Given the description of an element on the screen output the (x, y) to click on. 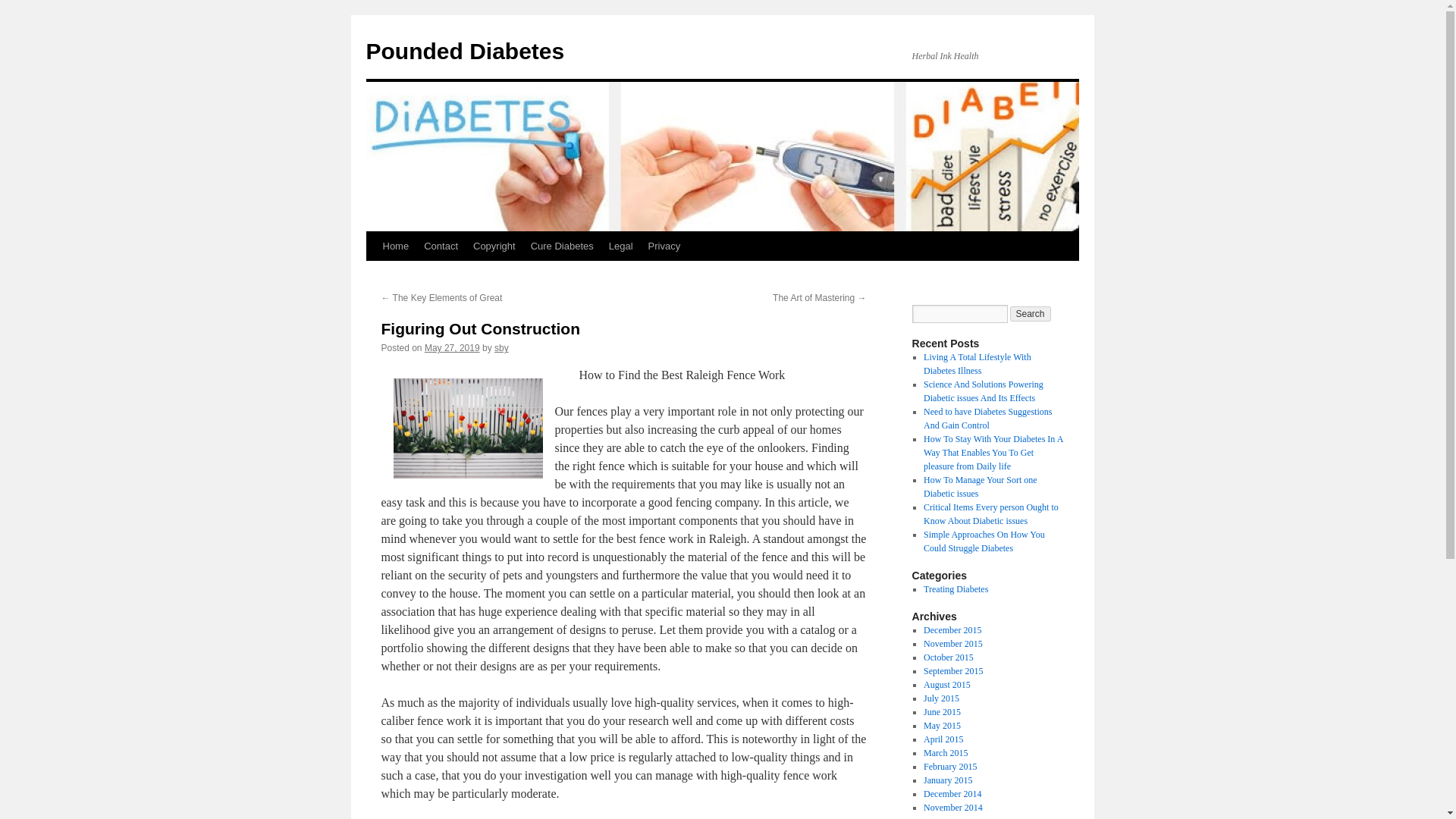
November 2015 (952, 643)
April 2015 (942, 738)
Cure Diabetes (561, 246)
December 2015 (952, 629)
Home (395, 246)
Legal (620, 246)
Copyright (493, 246)
Pounded Diabetes (464, 50)
